Given the description of an element on the screen output the (x, y) to click on. 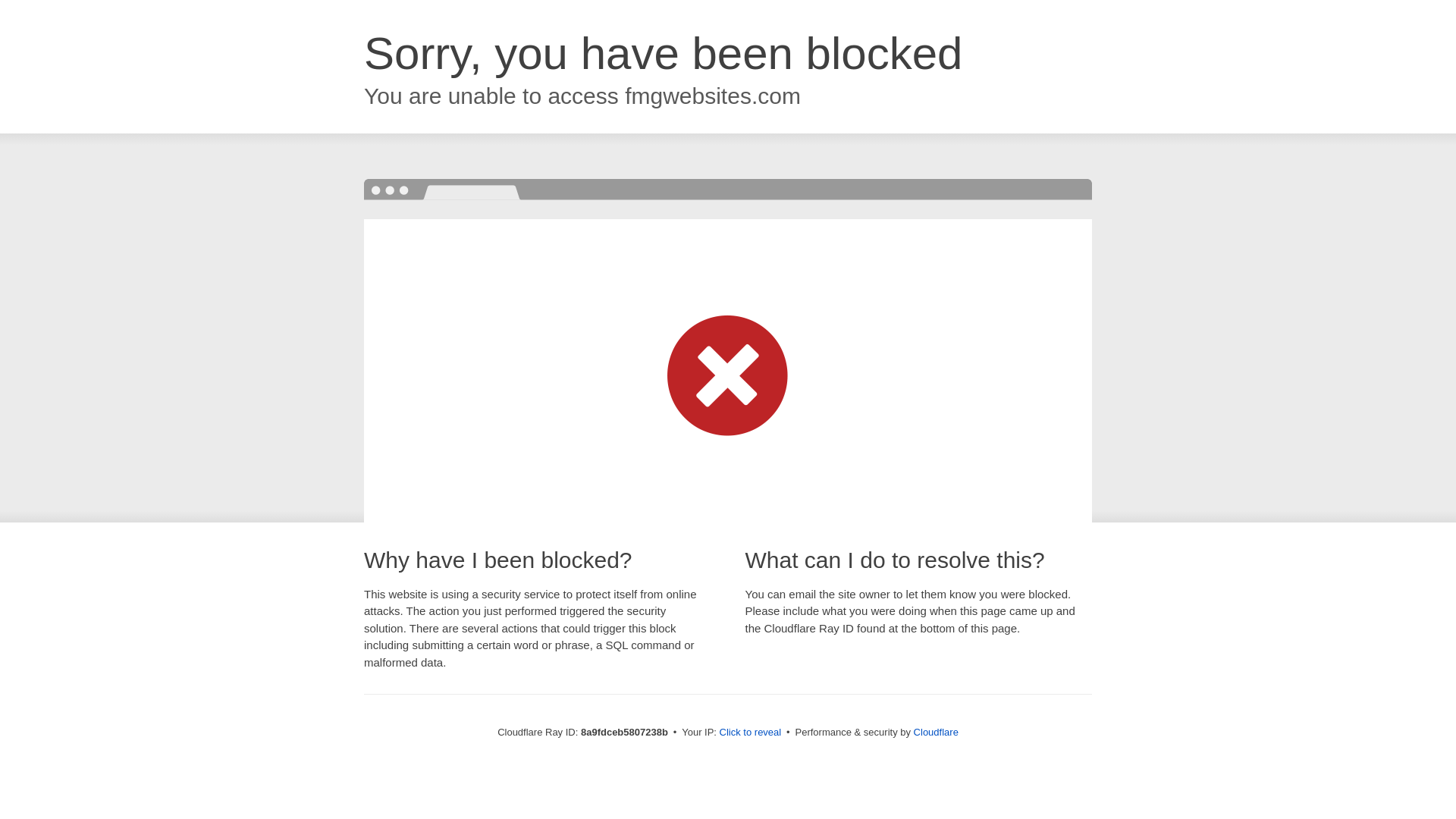
Cloudflare (936, 731)
Click to reveal (750, 732)
